Given the description of an element on the screen output the (x, y) to click on. 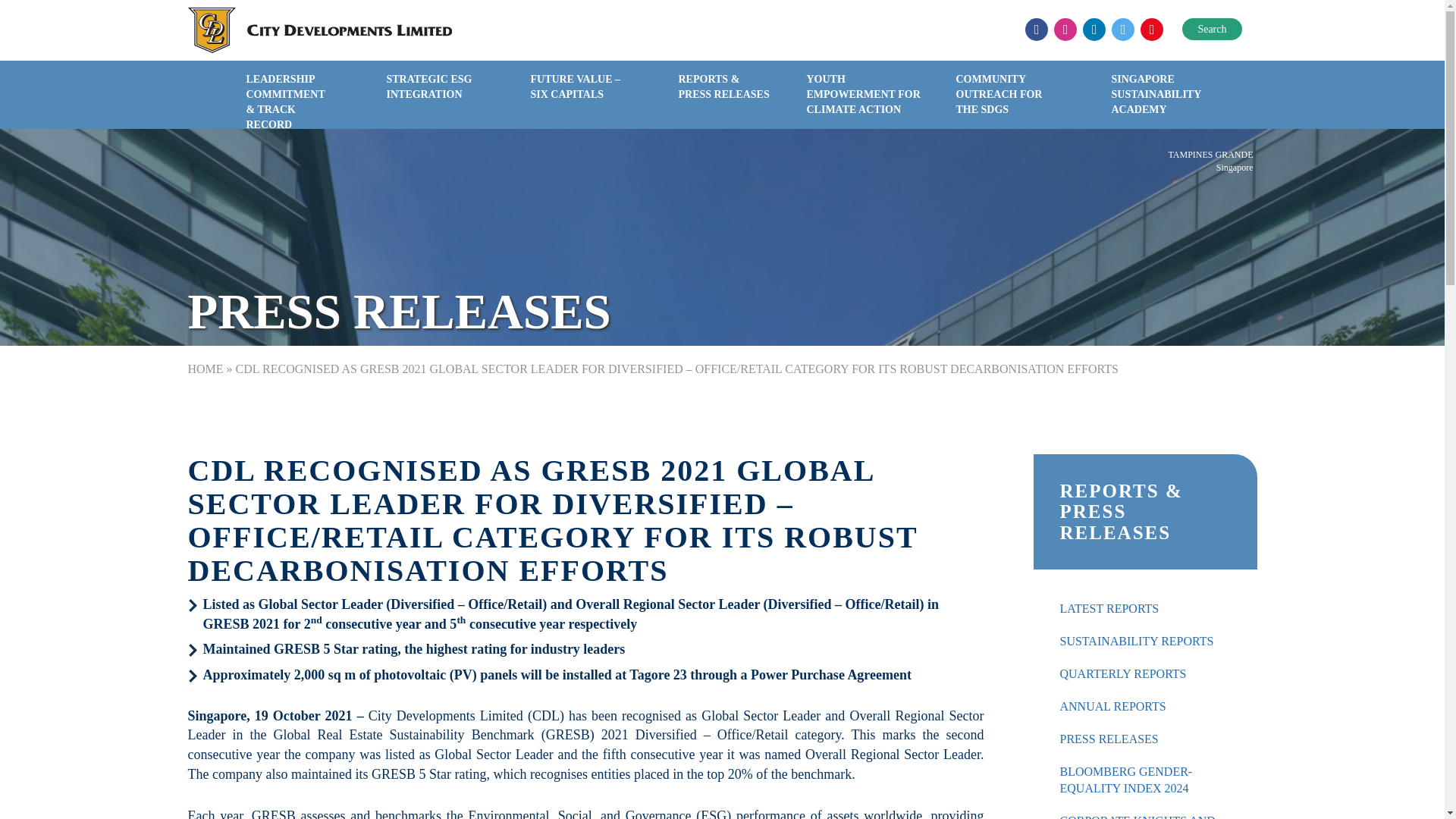
FUTURE VALUE - SIX CAPITALS (576, 97)
STRATEGIC ESG INTEGRATION (430, 97)
Search (1211, 29)
STRATEGIC ESG INTEGRATION (430, 97)
